Given the description of an element on the screen output the (x, y) to click on. 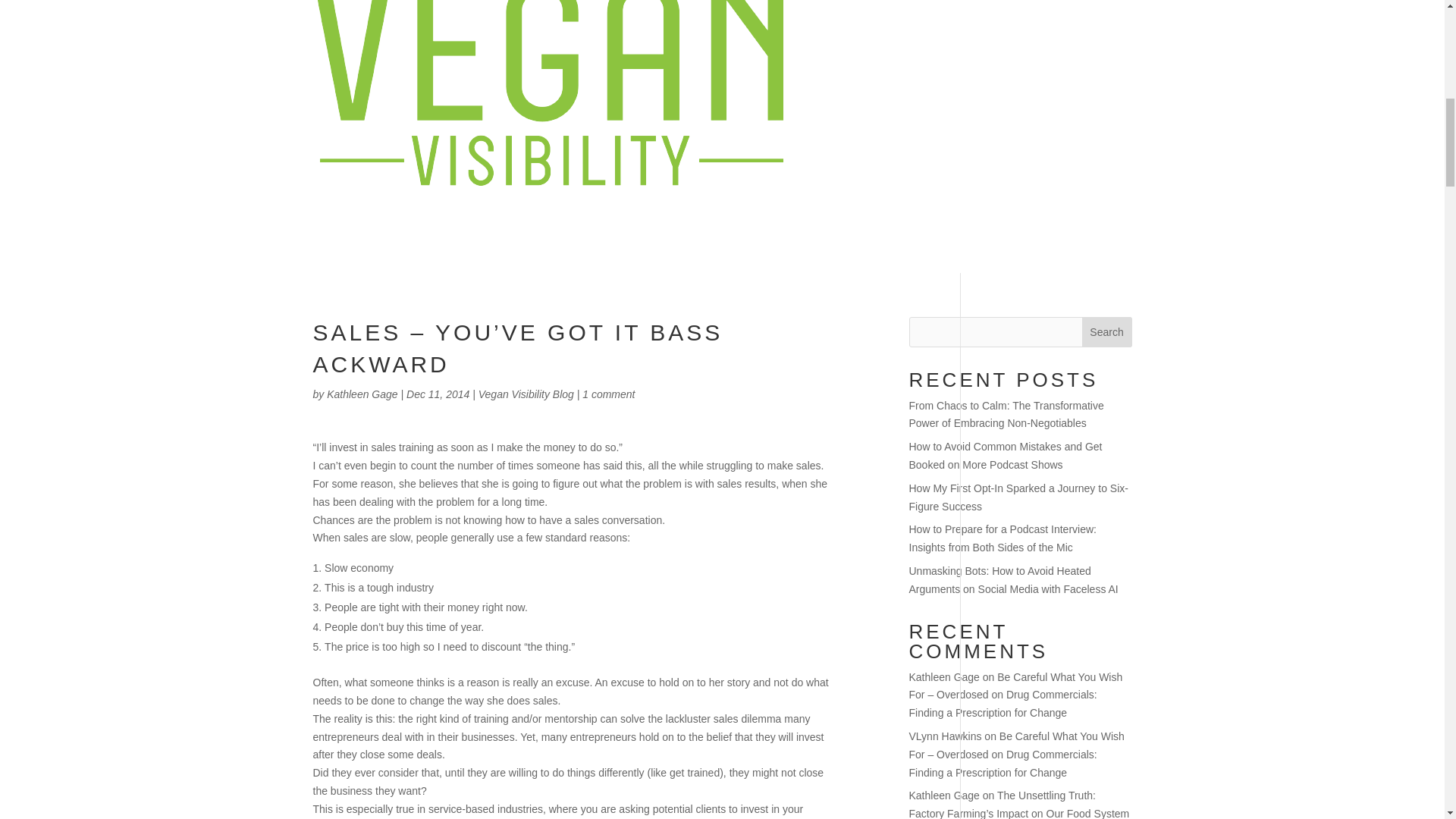
Kathleen Gage (361, 394)
1 comment (608, 394)
Vegan Visibility Blog (526, 394)
Posts by Kathleen Gage (361, 394)
